Given the description of an element on the screen output the (x, y) to click on. 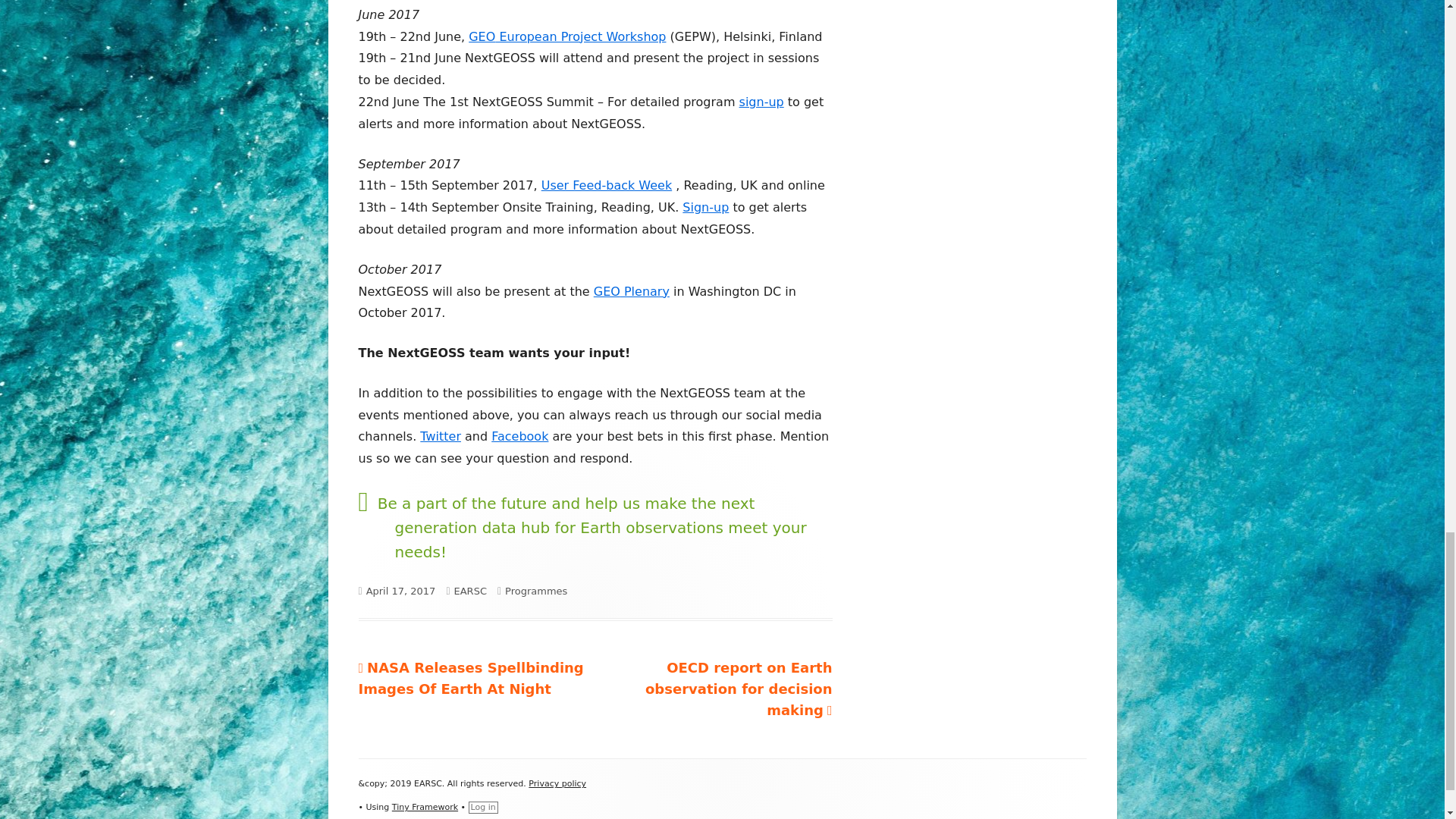
sign-up (761, 101)
Programmes (536, 591)
April 17, 2017 (400, 591)
Sign-up (705, 206)
Twitter (440, 436)
User Feed-back Week (606, 185)
GEO European Project Workshop (566, 36)
GEO Plenary (631, 291)
Facebook (520, 436)
EARSC (469, 591)
